Given the description of an element on the screen output the (x, y) to click on. 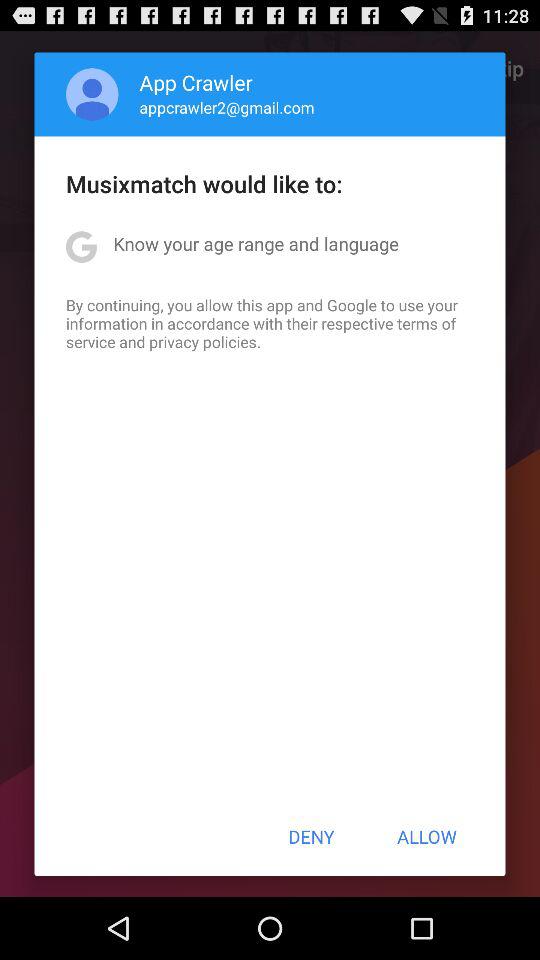
select deny at the bottom (311, 836)
